Given the description of an element on the screen output the (x, y) to click on. 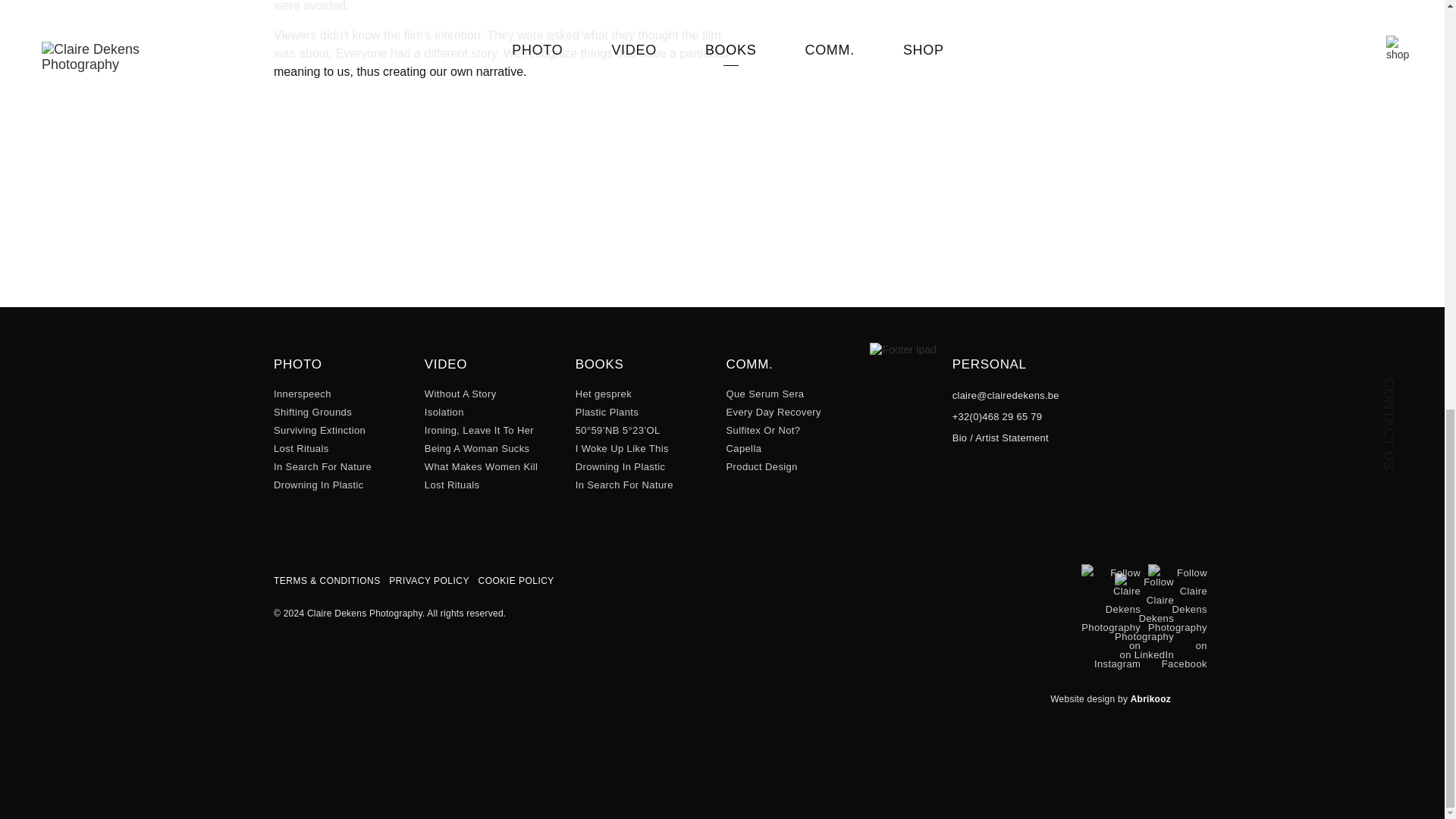
Plastic Plants (607, 411)
Every Day Recovery (773, 411)
I Woke Up Like This (621, 448)
Shifting Grounds (312, 411)
Innerspeech Photography (302, 393)
Lost Rituals (301, 448)
Capella (743, 448)
Innerspeech (302, 393)
Het gesprek (603, 393)
Lost Rituals (452, 484)
